Given the description of an element on the screen output the (x, y) to click on. 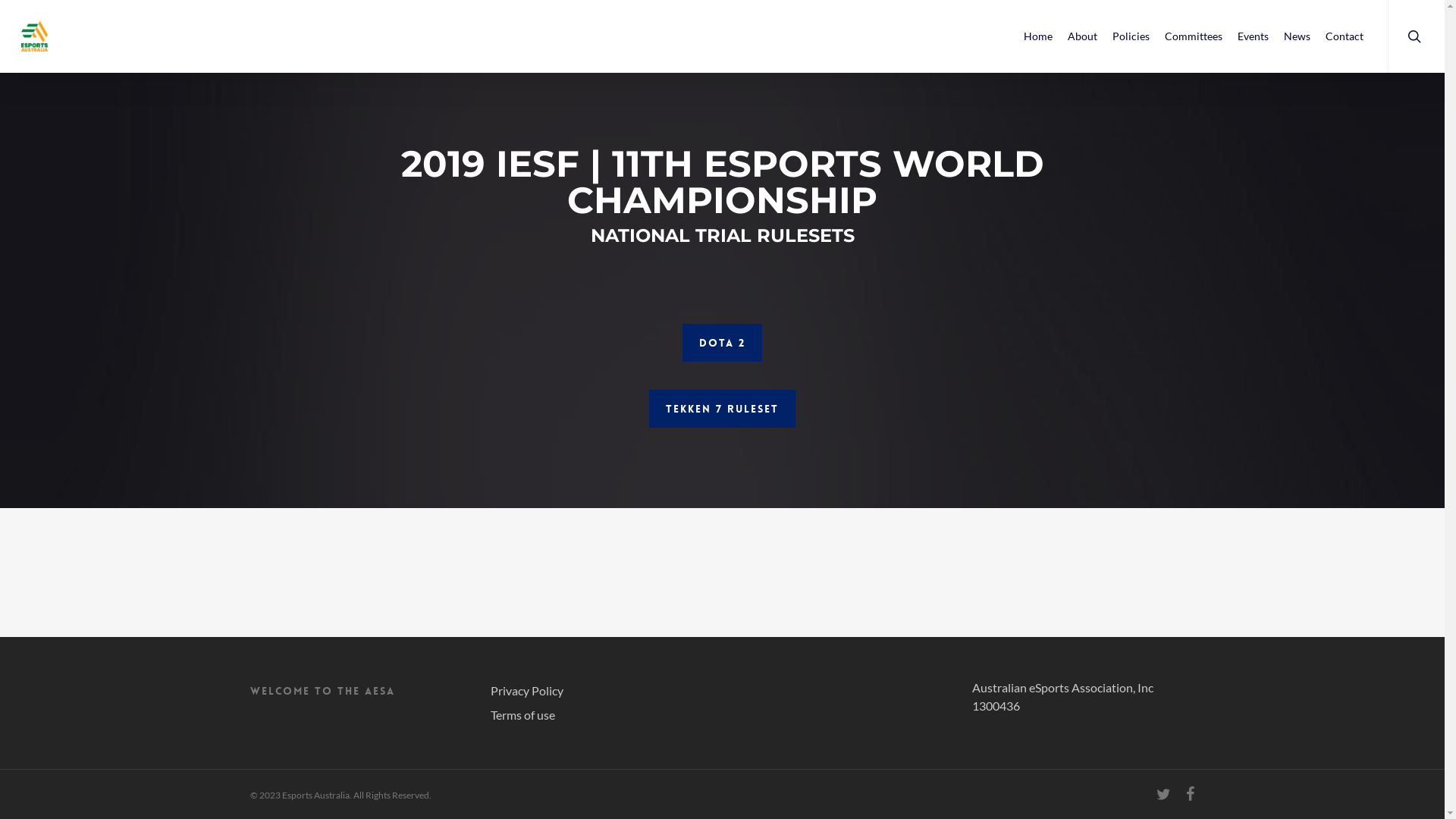
Events Element type: text (1253, 35)
facebook Element type: text (1190, 793)
News Element type: text (1296, 35)
search Element type: text (1415, 36)
Privacy Policy Element type: text (601, 690)
Committees Element type: text (1193, 35)
Tekken 7 Ruleset Element type: text (722, 408)
Dota 2 Element type: text (722, 342)
twitter Element type: text (1163, 793)
Policies Element type: text (1130, 35)
Contact Element type: text (1344, 35)
Home Element type: text (1038, 35)
About Element type: text (1082, 35)
Terms of use Element type: text (601, 715)
